Given the description of an element on the screen output the (x, y) to click on. 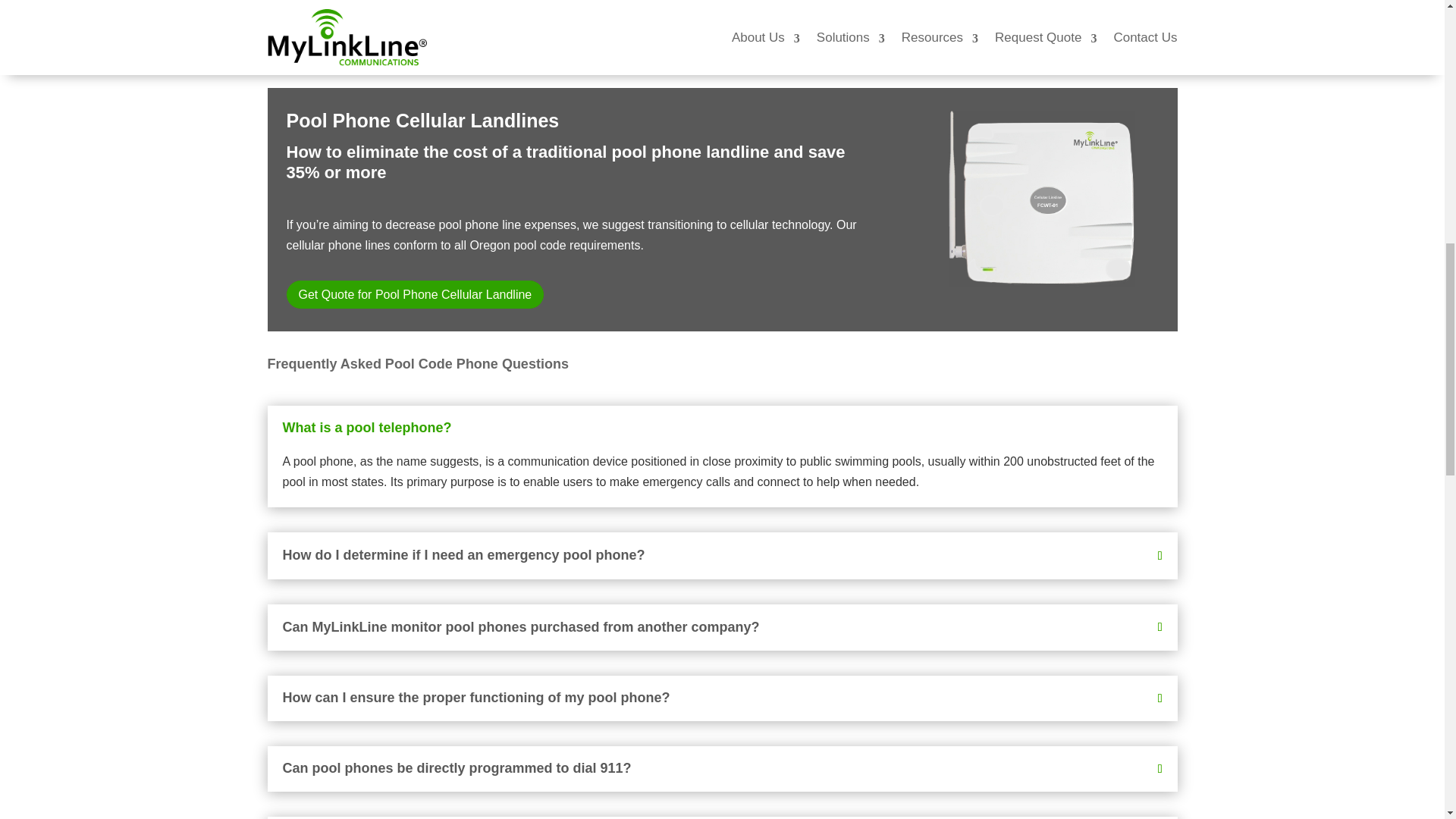
Oregon Pool Phone Requirements (362, 11)
cellular elevator phone line (1042, 199)
